Given the description of an element on the screen output the (x, y) to click on. 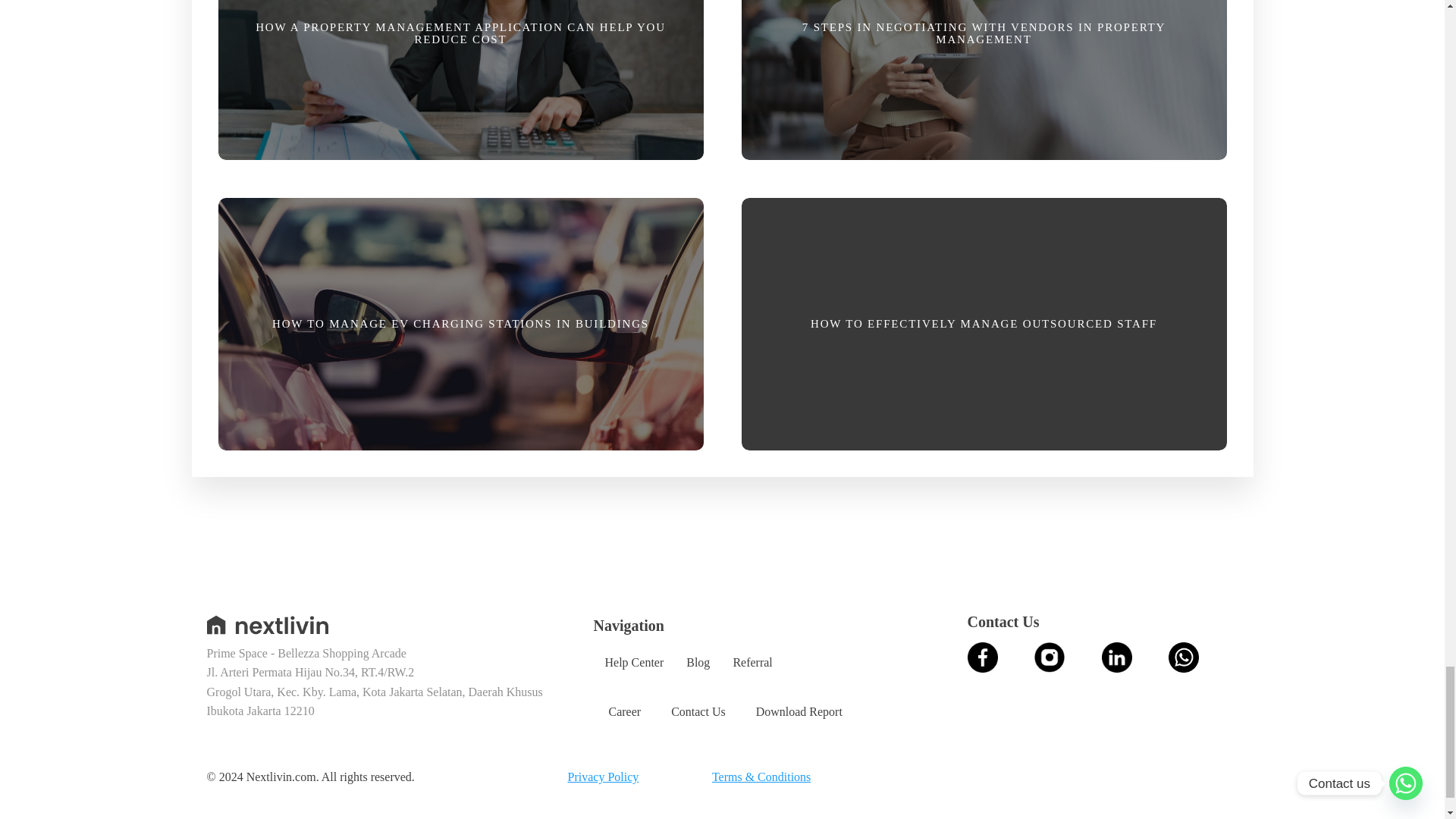
7 STEPS IN NEGOTIATING WITH VENDORS IN PROPERTY MANAGEMENT (983, 85)
Help Center (633, 662)
Privacy Policy (603, 777)
Download Report (799, 712)
Referral (751, 662)
Blog (697, 662)
Contact Us (698, 712)
